Given the description of an element on the screen output the (x, y) to click on. 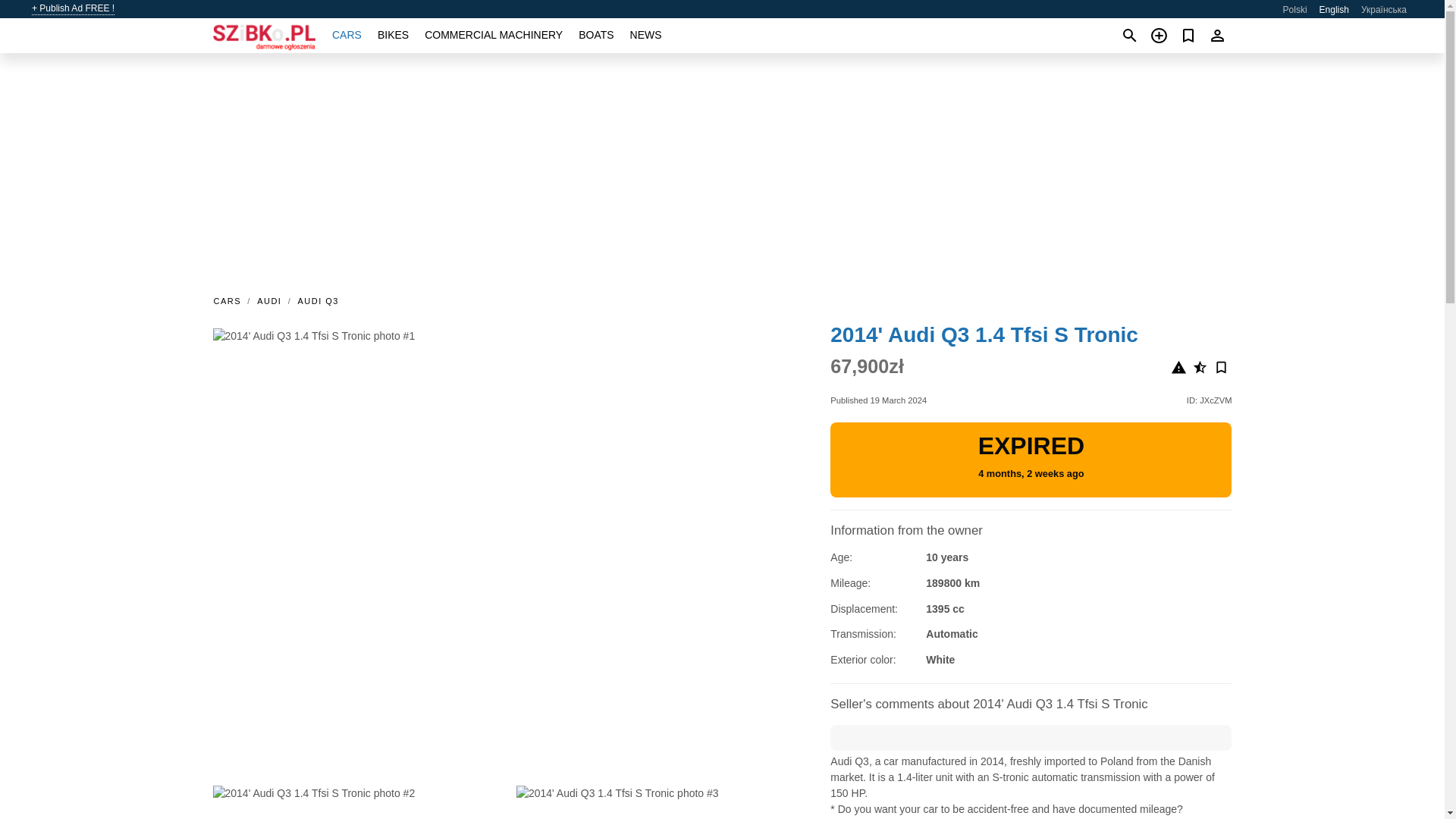
AUDI Q3 (318, 300)
AUDI (269, 300)
CARS (346, 35)
Polski (1294, 9)
NEWS (646, 35)
COMMERCIAL MACHINERY (493, 35)
CARS (230, 300)
BOATS (595, 35)
BIKES (393, 35)
